Given the description of an element on the screen output the (x, y) to click on. 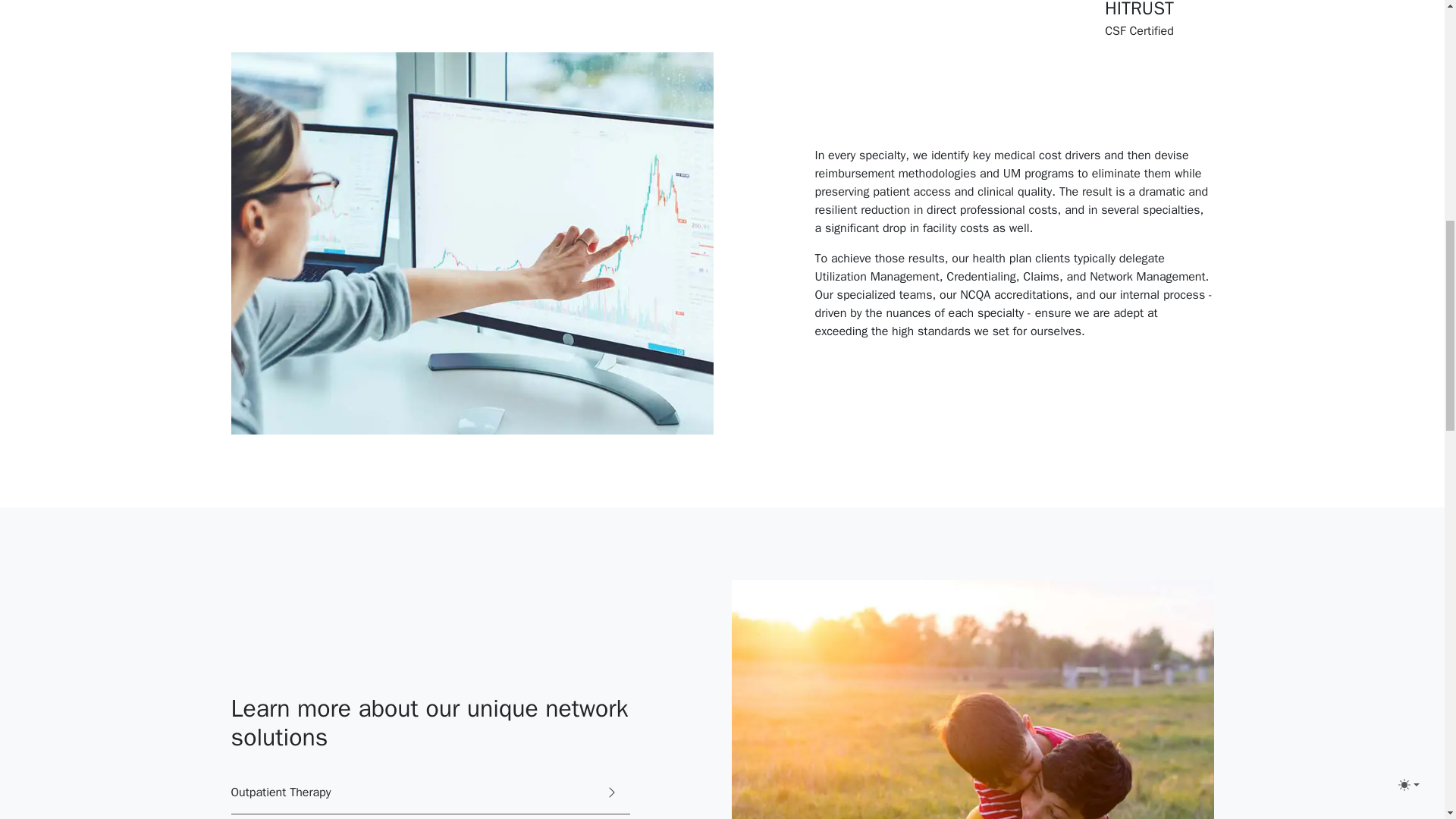
Eye Care (429, 816)
Outpatient Therapy (429, 792)
